Given the description of an element on the screen output the (x, y) to click on. 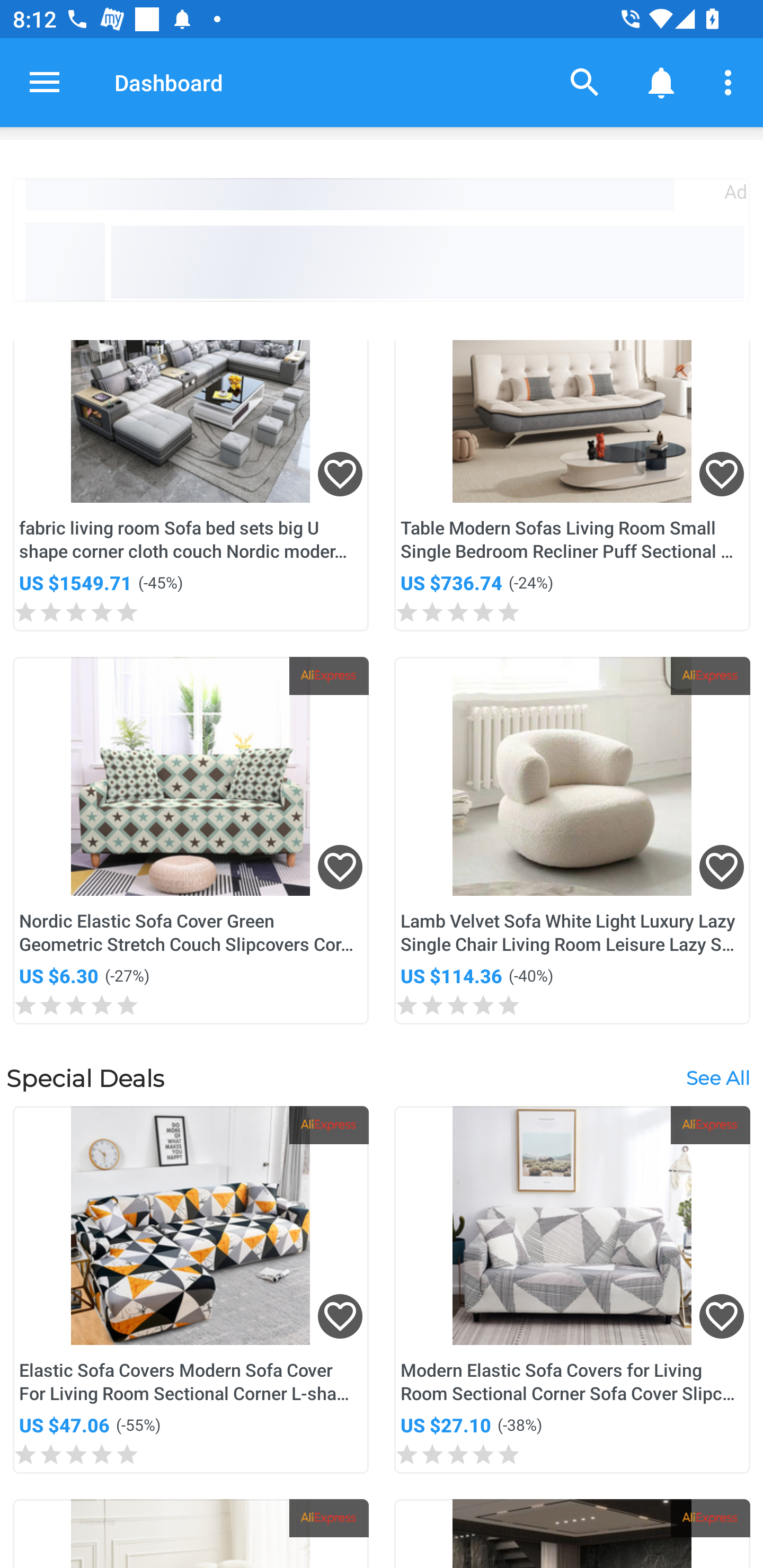
Open navigation drawer (44, 82)
Search (585, 81)
More options (731, 81)
See All (717, 1076)
